Given the description of an element on the screen output the (x, y) to click on. 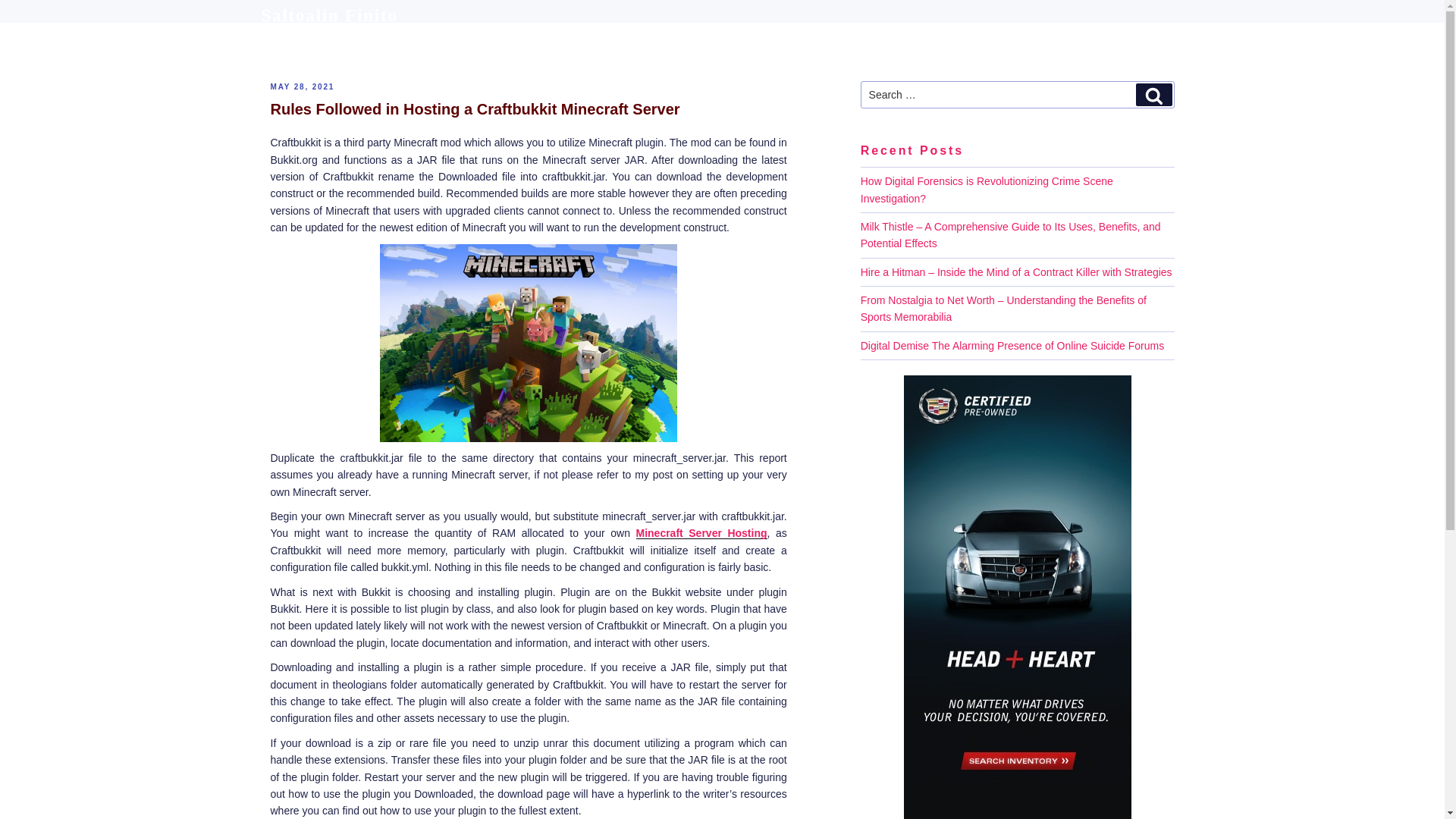
Search (1153, 94)
Minecraft Server Hosting (700, 532)
Saltoalin Finito (328, 15)
